Given the description of an element on the screen output the (x, y) to click on. 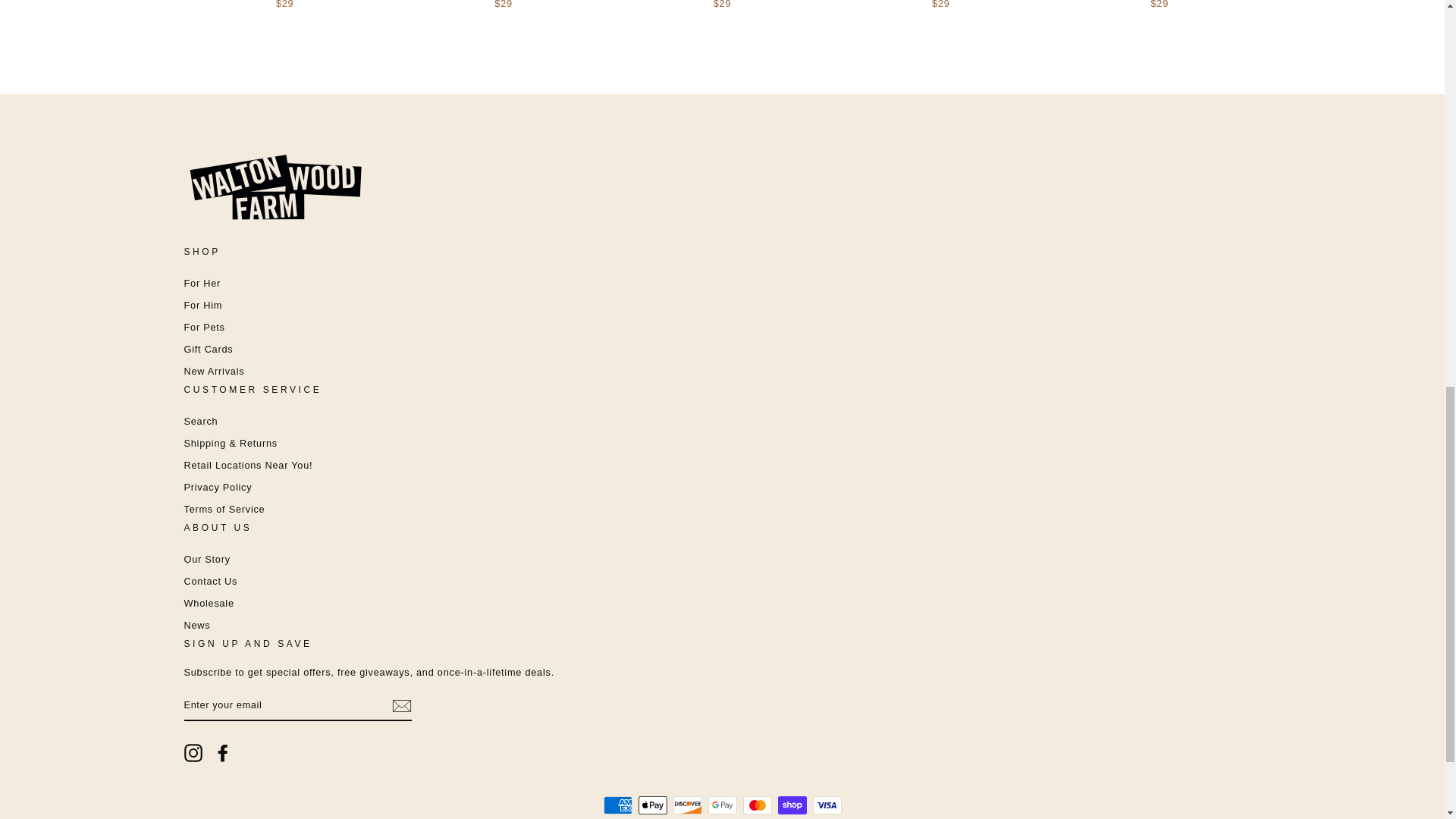
Walton Wood Farm on Instagram (192, 752)
Shop Pay (791, 805)
American Express (617, 805)
Visa (826, 805)
Google Pay (721, 805)
Walton Wood Farm on Facebook (222, 752)
Apple Pay (652, 805)
Mastercard (756, 805)
Discover (686, 805)
